Given the description of an element on the screen output the (x, y) to click on. 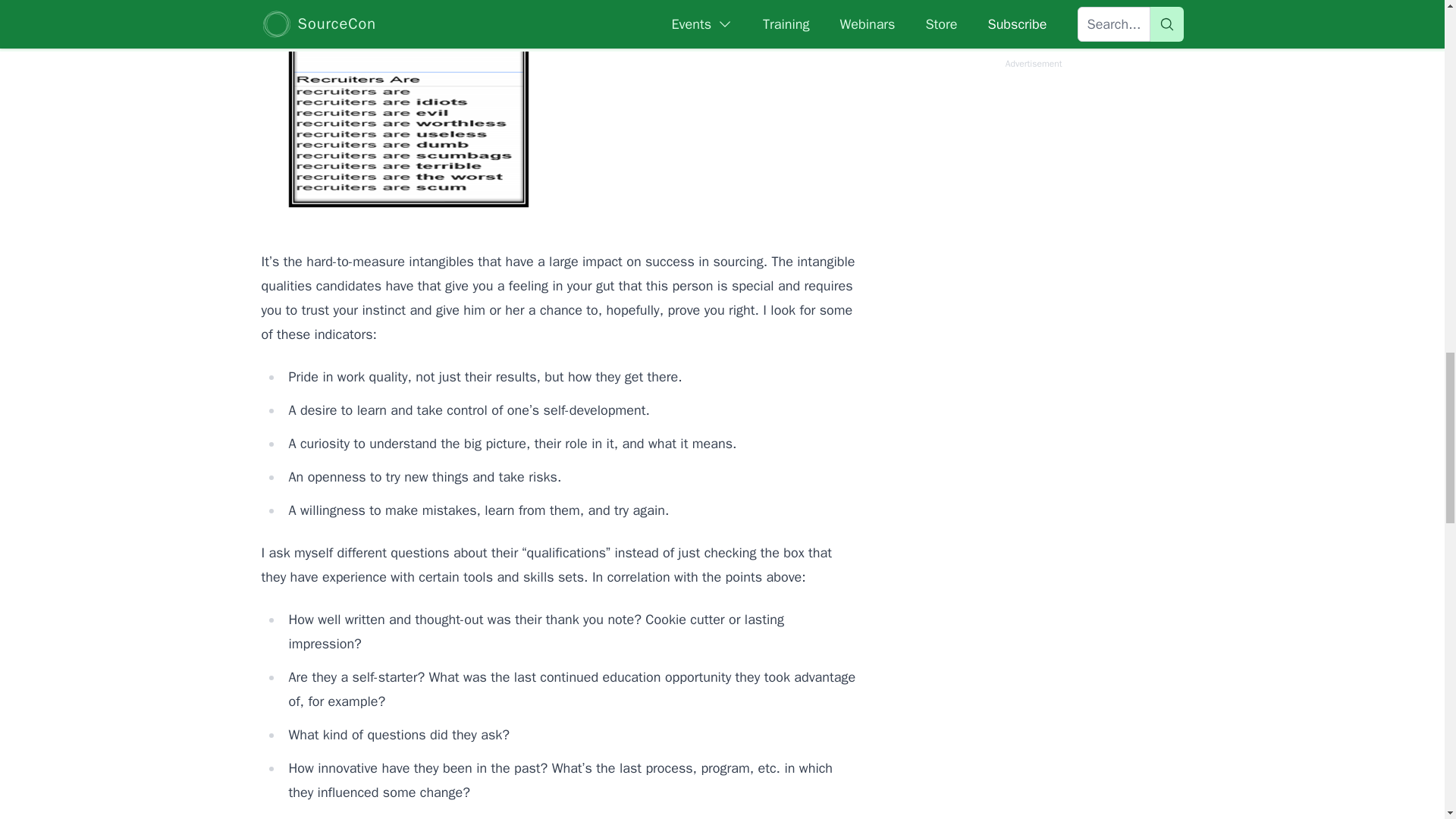
3rd party ad content (1033, 103)
